Given the description of an element on the screen output the (x, y) to click on. 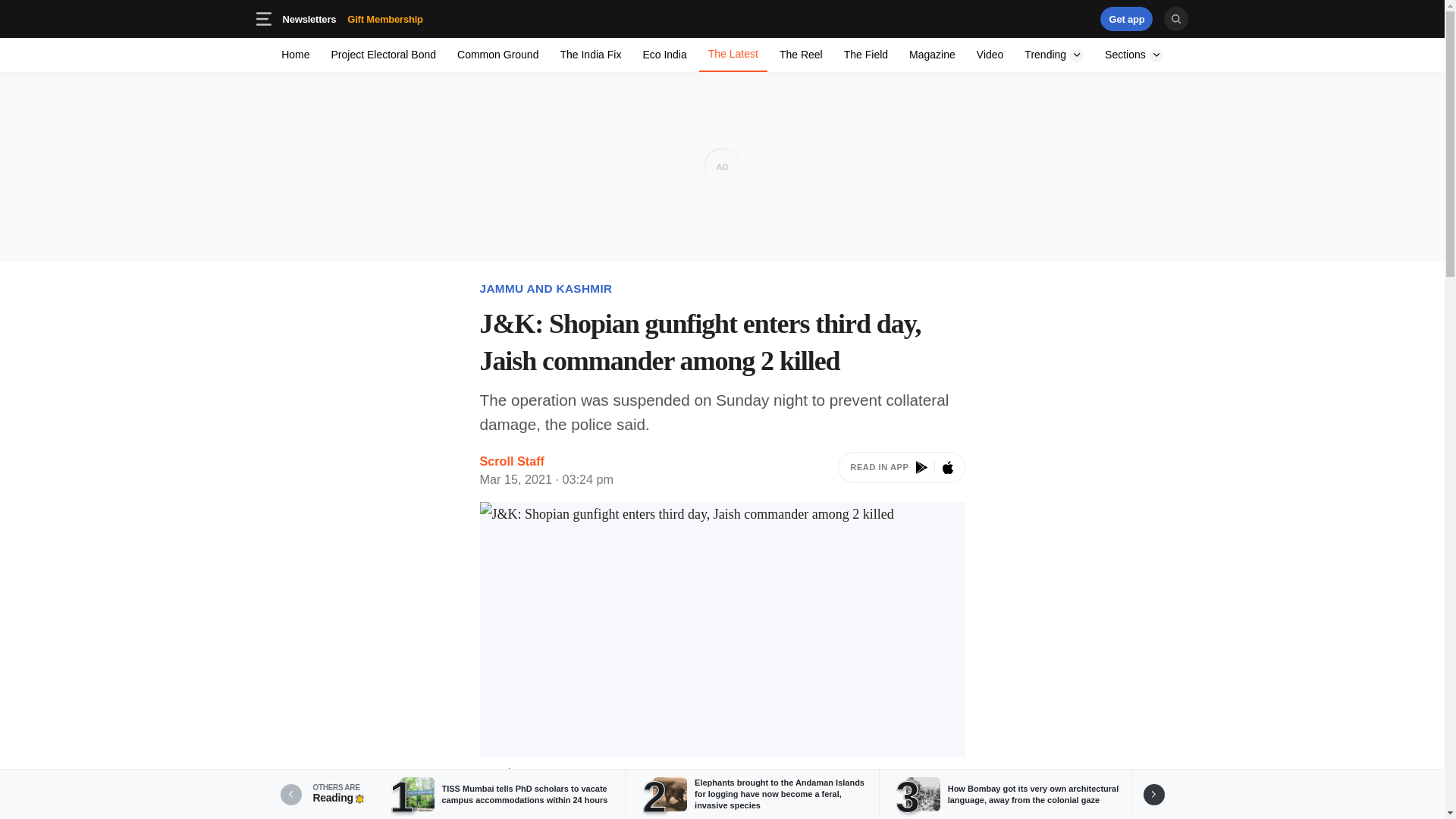
Home (295, 54)
Get app (1126, 18)
Get app (1126, 18)
The Latest (732, 54)
Get app (1035, 18)
READ IN APP (900, 470)
Gift Membership (409, 18)
Sections (385, 18)
Newsletters (1134, 54)
Video (309, 18)
Common Ground (990, 54)
The India Fix (497, 54)
Eco India (352, 18)
